Given the description of an element on the screen output the (x, y) to click on. 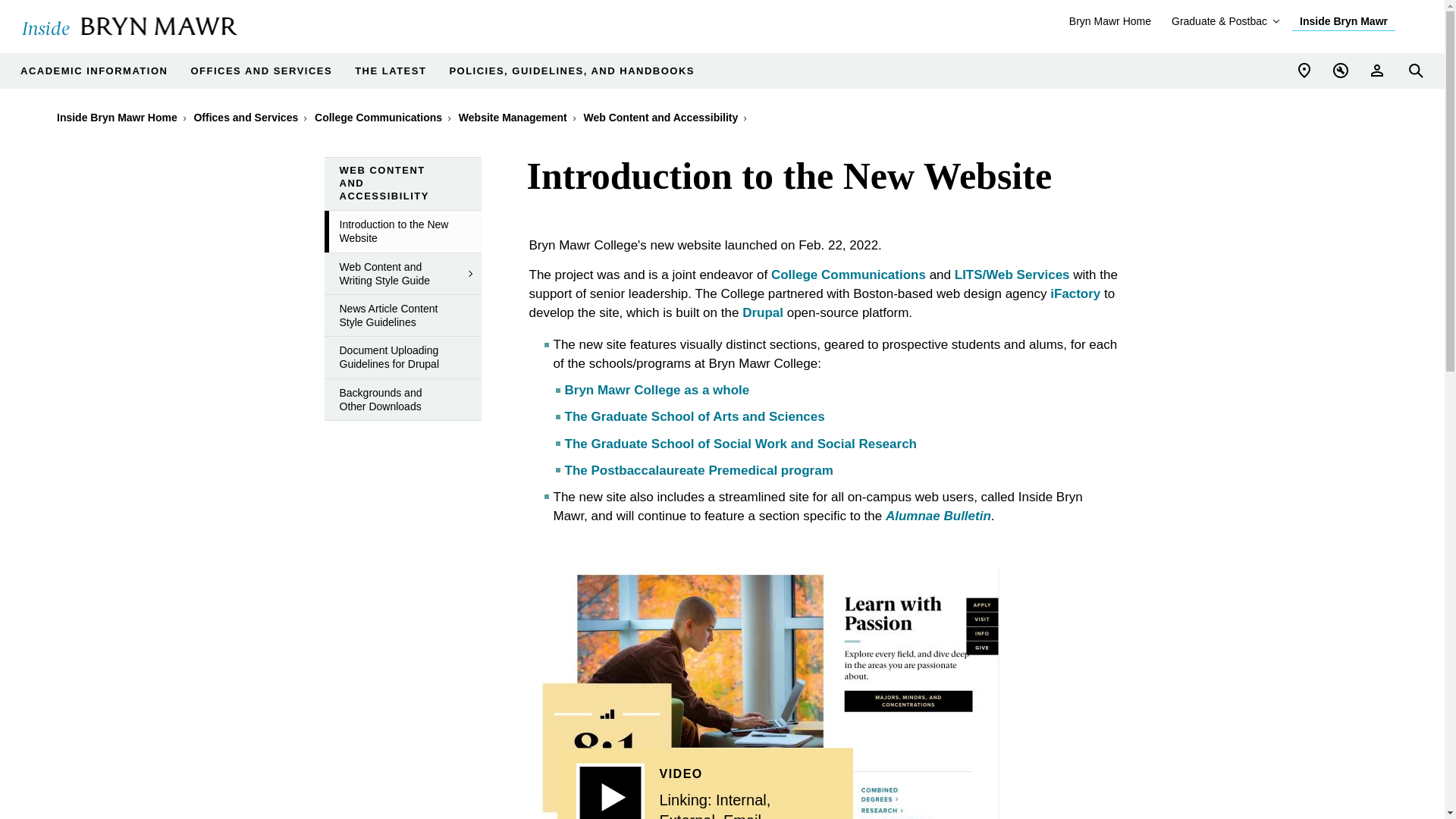
ACADEMIC INFORMATION (93, 70)
Inside Bryn Mawr (1343, 21)
Bryn Mawr Home (1109, 21)
OFFICES AND SERVICES (260, 70)
